Given the description of an element on the screen output the (x, y) to click on. 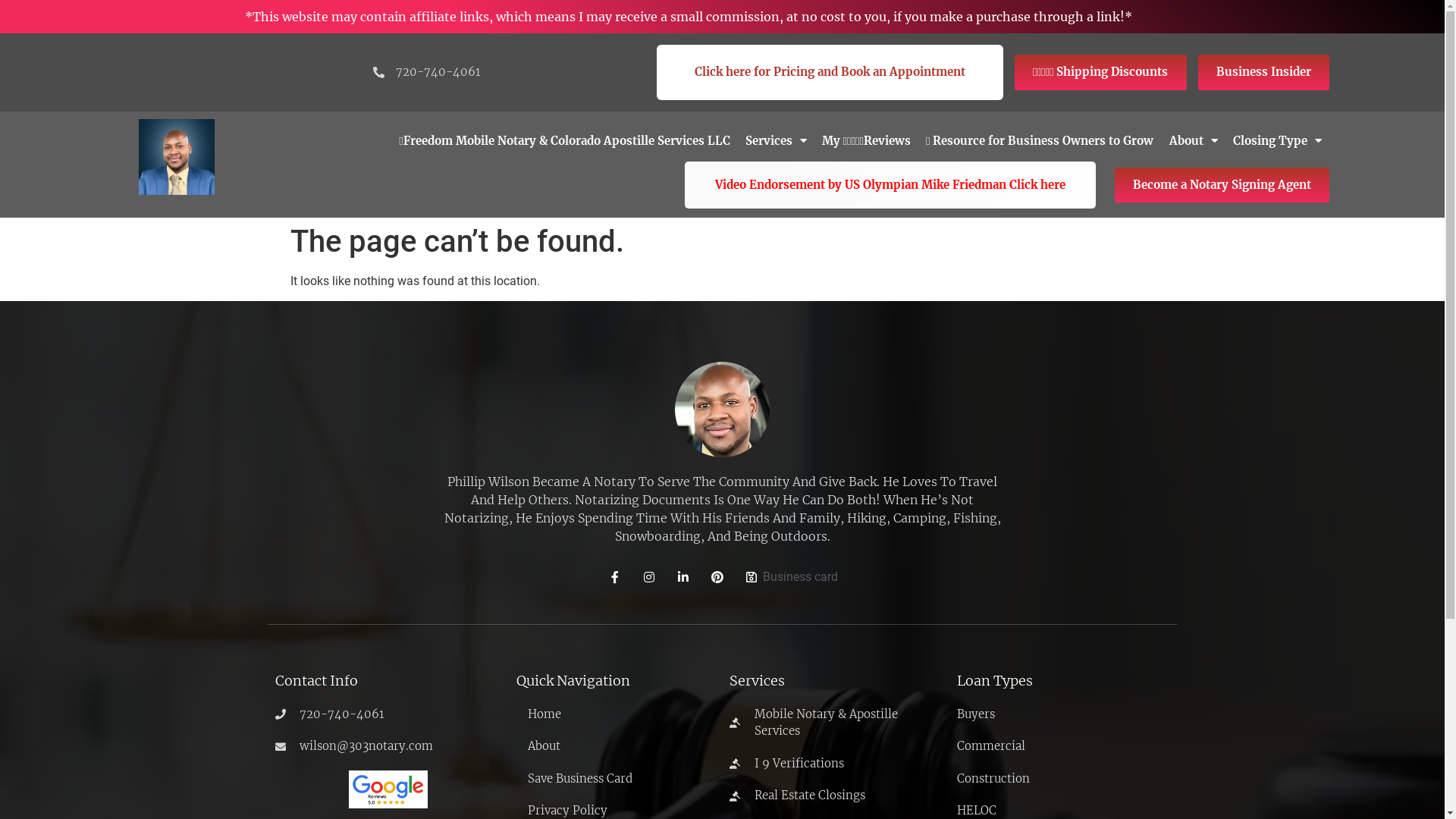
Construction Element type: text (1063, 778)
Save Business Card Element type: text (615, 778)
Click here for Pricing and Book an Appointment Element type: text (829, 72)
About Element type: text (1193, 140)
Business Insider Element type: text (1263, 72)
Business card Element type: text (790, 576)
Services Element type: text (775, 140)
Commercial Element type: text (1063, 746)
Real Estate Closings Element type: text (835, 795)
wilson@303notary.com Element type: text (387, 746)
Video Endorsement by US Olympian Mike Friedman Click here Element type: text (889, 185)
Buyers Element type: text (1063, 714)
Mobile Notary & Apostille Services Element type: text (835, 723)
720-740-4061 Element type: text (425, 72)
About Element type: text (615, 746)
Closing Type Element type: text (1277, 140)
I 9 Verifications Element type: text (835, 763)
Home Element type: text (615, 714)
Become a Notary Signing Agent Element type: text (1221, 185)
720-740-4061 Element type: text (387, 714)
